Given the description of an element on the screen output the (x, y) to click on. 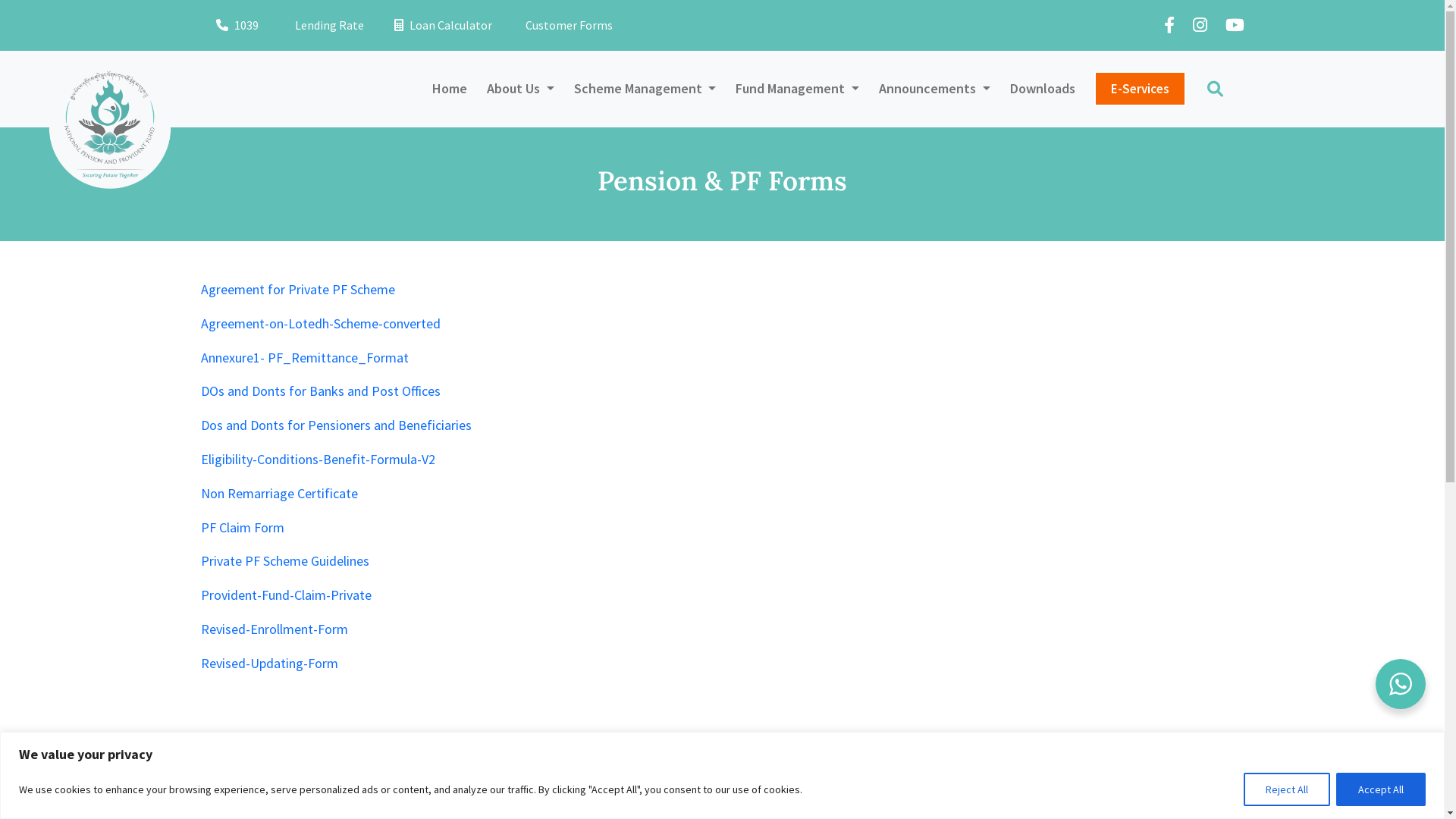
Annexure1- PF_Remittance_Format Element type: text (303, 357)
Eligibility-Conditions-Benefit-Formula-V2 Element type: text (317, 458)
Private PF Scheme Guidelines Element type: text (284, 560)
Home Element type: text (449, 89)
Dos and Donts for Pensioners and Beneficiaries Element type: text (335, 424)
PF Claim Form Element type: text (241, 527)
Loan Calculator Element type: text (443, 25)
Scheme Management Element type: text (644, 89)
Revised-Enrollment-Form Element type: text (273, 628)
Lending Rate Element type: text (325, 25)
Agreement for Private PF Scheme Element type: text (297, 289)
Agreement-on-Lotedh-Scheme-converted Element type: text (319, 323)
E-Services Element type: text (1139, 88)
Non Remarriage Certificate Element type: text (278, 493)
DOs and Donts for Banks and Post Offices Element type: text (319, 390)
Provident-Fund-Claim-Private Element type: text (285, 594)
Downloads Element type: text (1042, 89)
About Us Element type: text (520, 89)
Fund Management Element type: text (797, 89)
1039 Element type: text (236, 24)
Reject All Element type: text (1286, 788)
Revised-Updating-Form Element type: text (268, 662)
Announcements Element type: text (934, 89)
Customer Forms Element type: text (566, 25)
Accept All Element type: text (1380, 788)
